Given the description of an element on the screen output the (x, y) to click on. 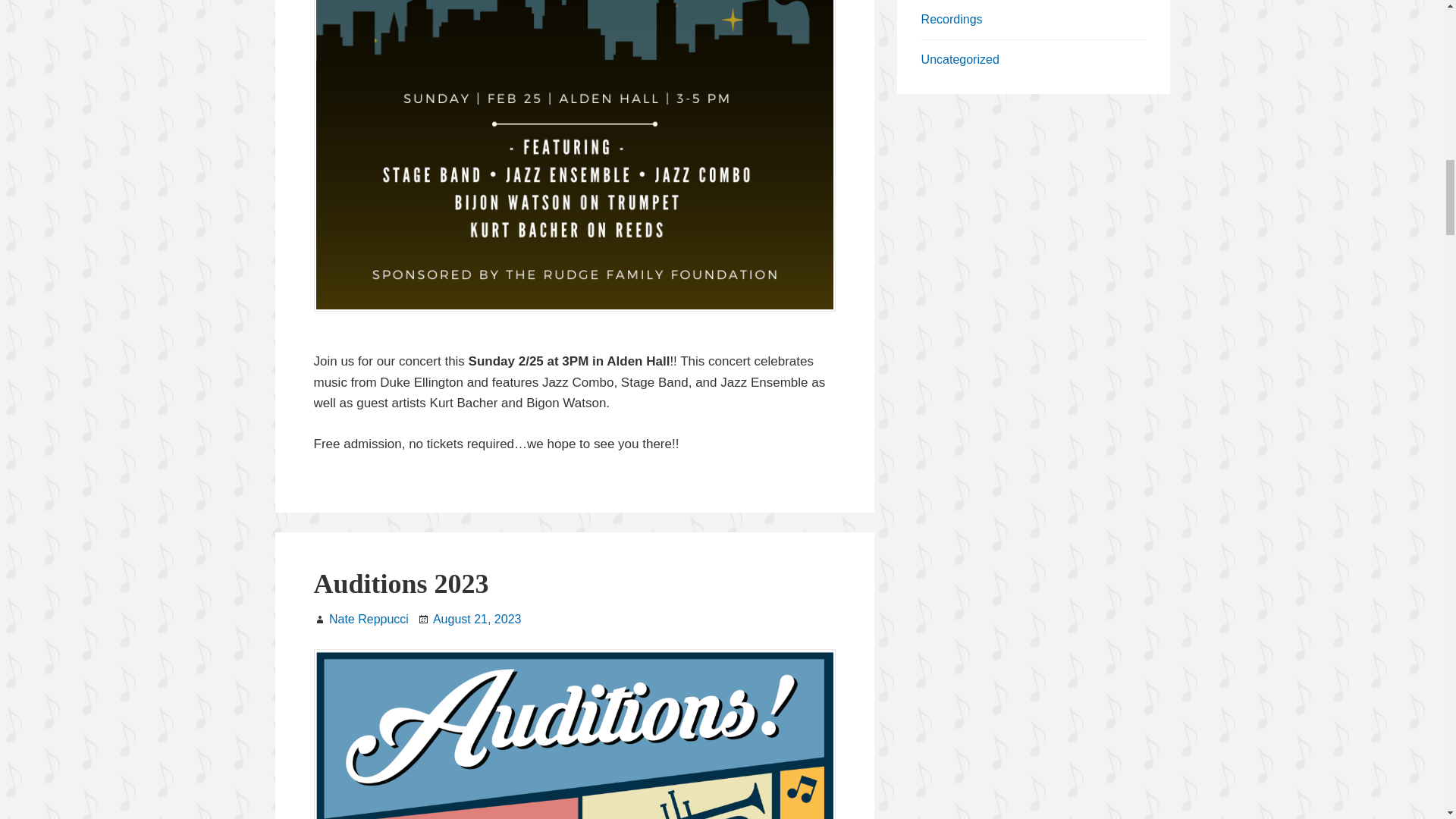
Auditions 2023 (401, 583)
August 21, 2023 (476, 618)
Nate Reppucci (369, 618)
